Given the description of an element on the screen output the (x, y) to click on. 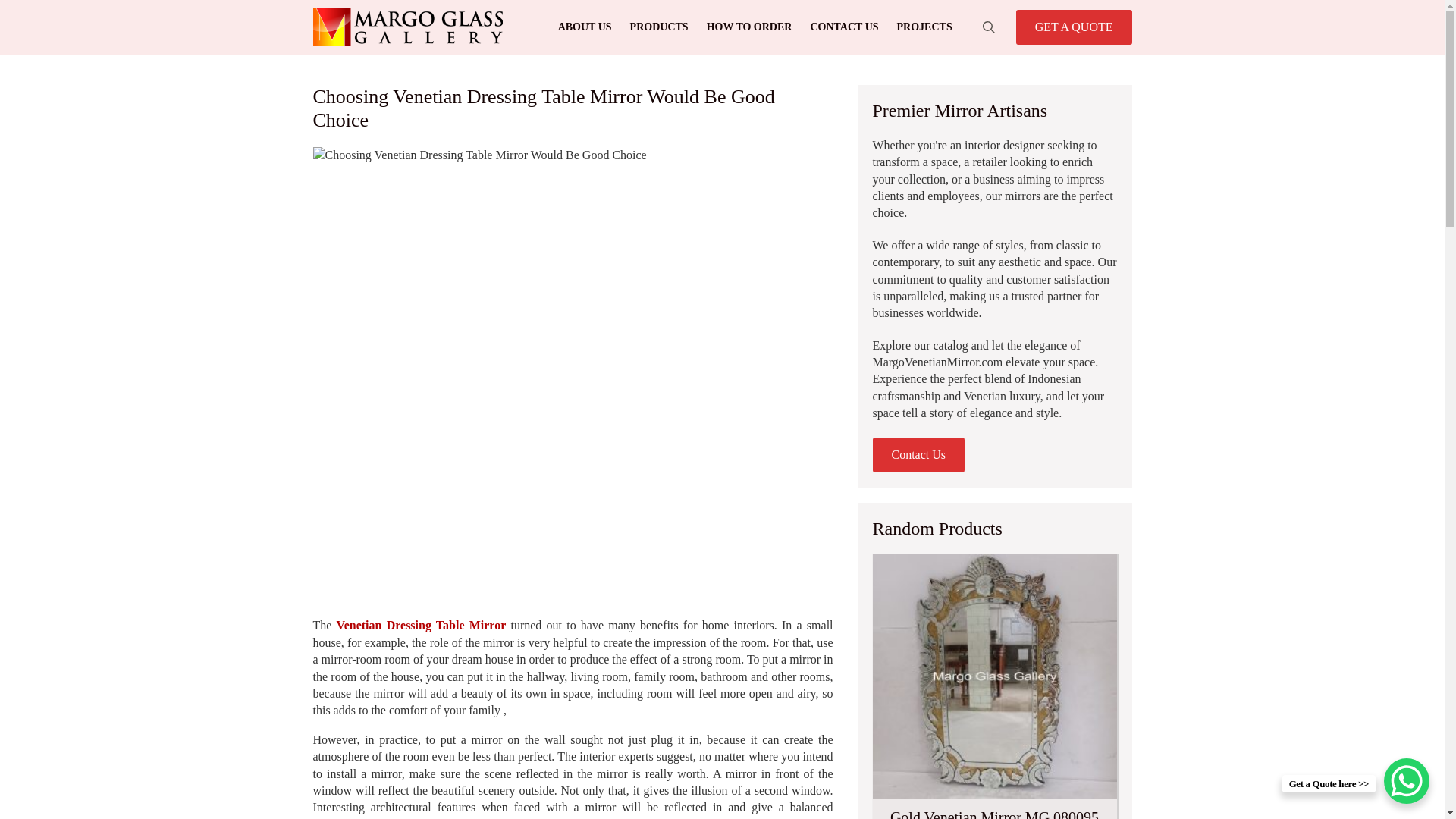
Gold Venetian Mirror MG 080095 (994, 686)
ABOUT US (584, 27)
PROJECTS (924, 27)
Venetian Dressing Table Mirror (421, 625)
GET A QUOTE (1074, 27)
Contact Us (917, 454)
HOW TO ORDER (749, 27)
PRODUCTS (659, 27)
CONTACT US (843, 27)
